Given the description of an element on the screen output the (x, y) to click on. 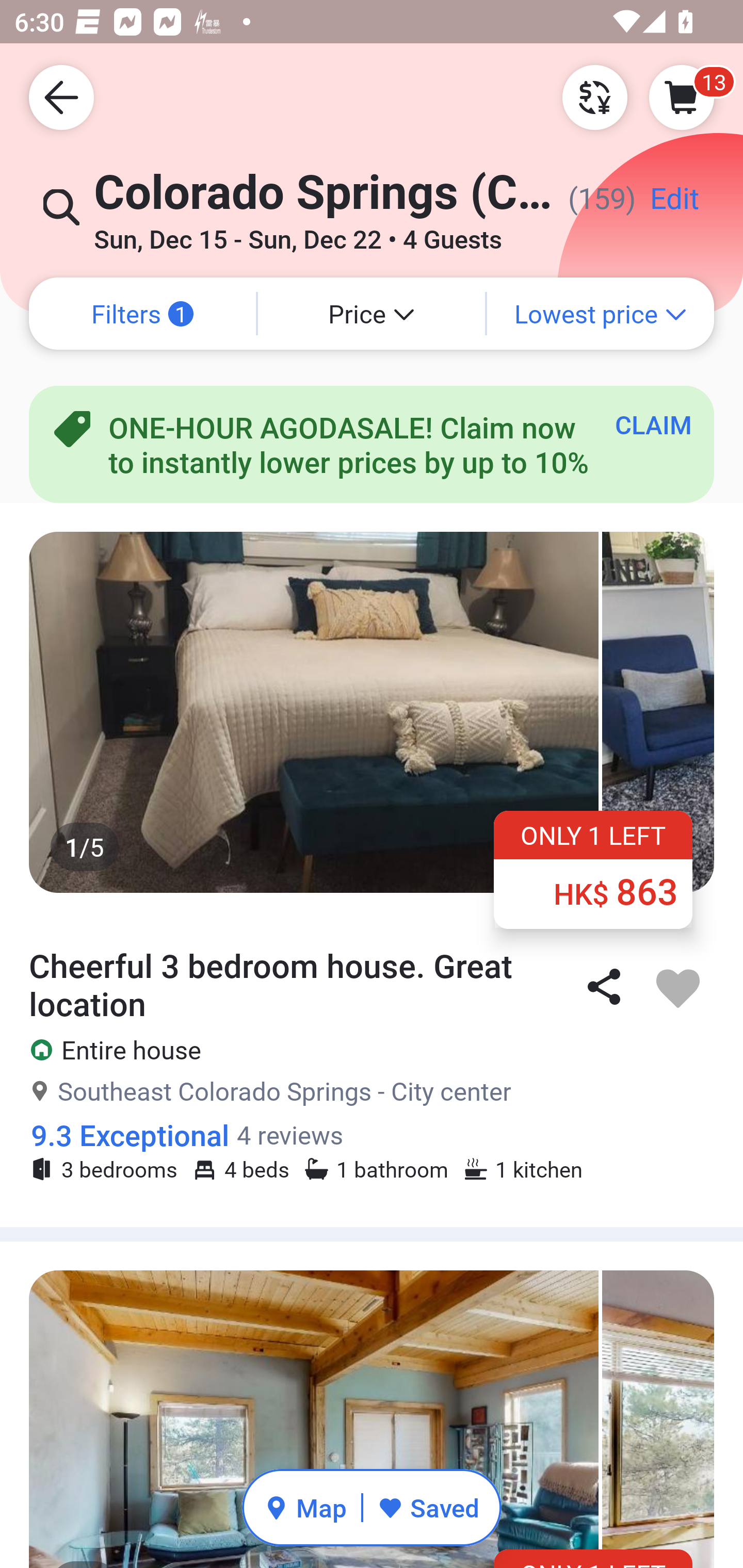
Colorado Springs (CO) (323, 201)
(159) (594, 205)
Edit (674, 205)
Sun, Dec 15 - Sun, Dec 22 • 4 Guests (297, 232)
Filters 1 (141, 313)
Price (371, 313)
Lowest price (600, 313)
CLAIM (653, 424)
1/5 (371, 711)
ONLY 1 LEFT ‪HK$ 863 (593, 869)
Map (305, 1507)
Saved (428, 1507)
